Given the description of an element on the screen output the (x, y) to click on. 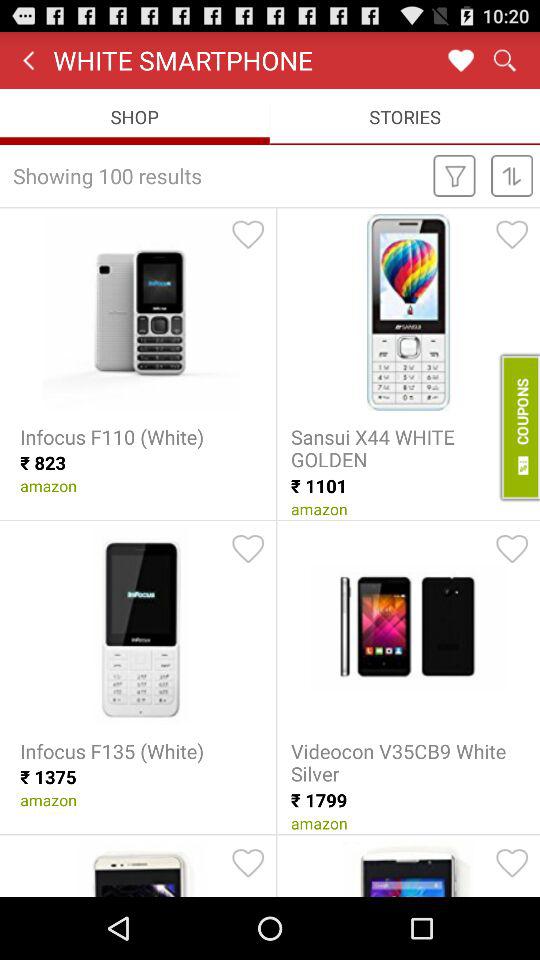
like product (512, 549)
